Given the description of an element on the screen output the (x, y) to click on. 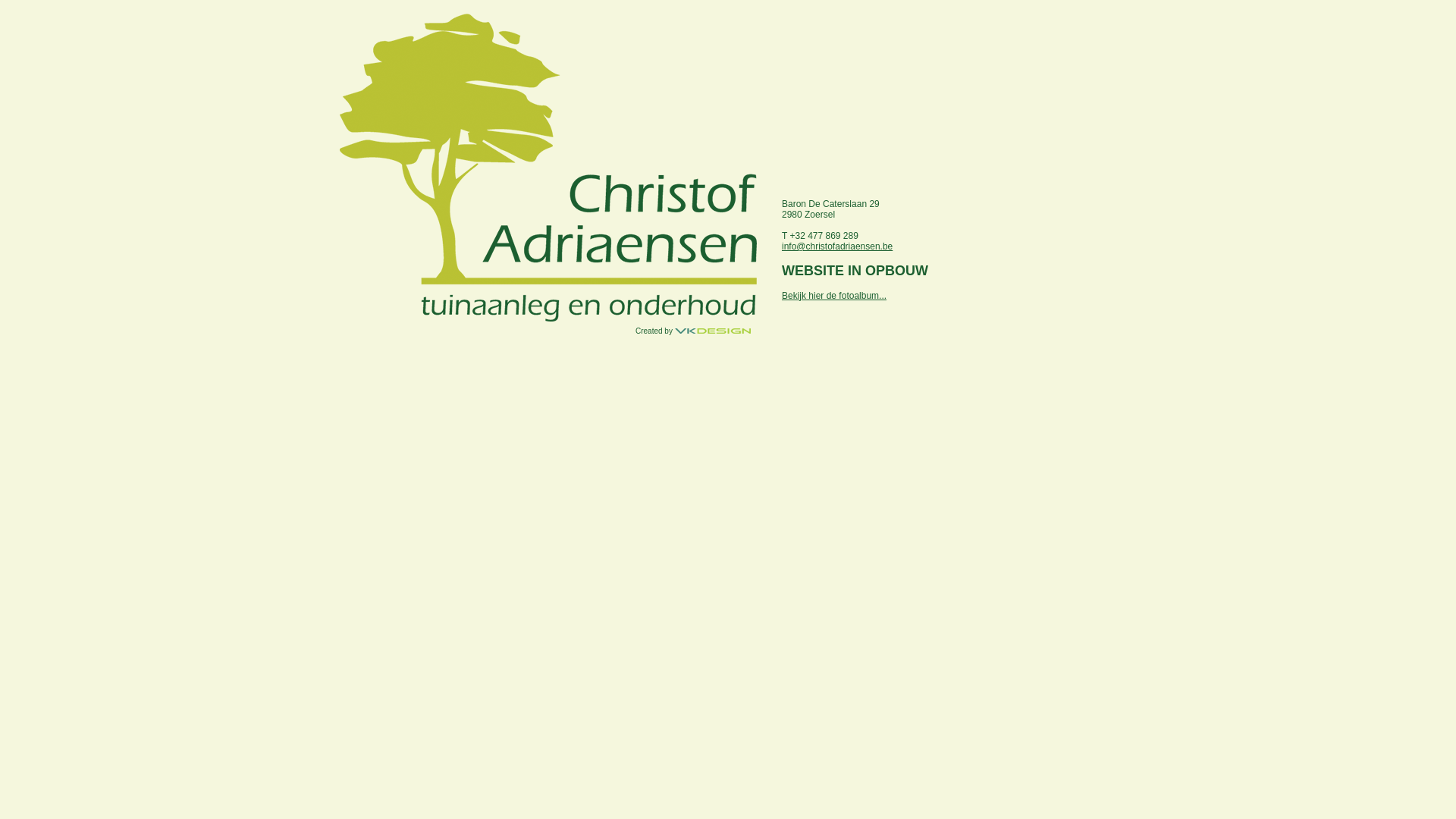
info@christofadriaensen.be Element type: text (836, 246)
Bekijk hier de fotoalbum... Element type: text (833, 295)
